Given the description of an element on the screen output the (x, y) to click on. 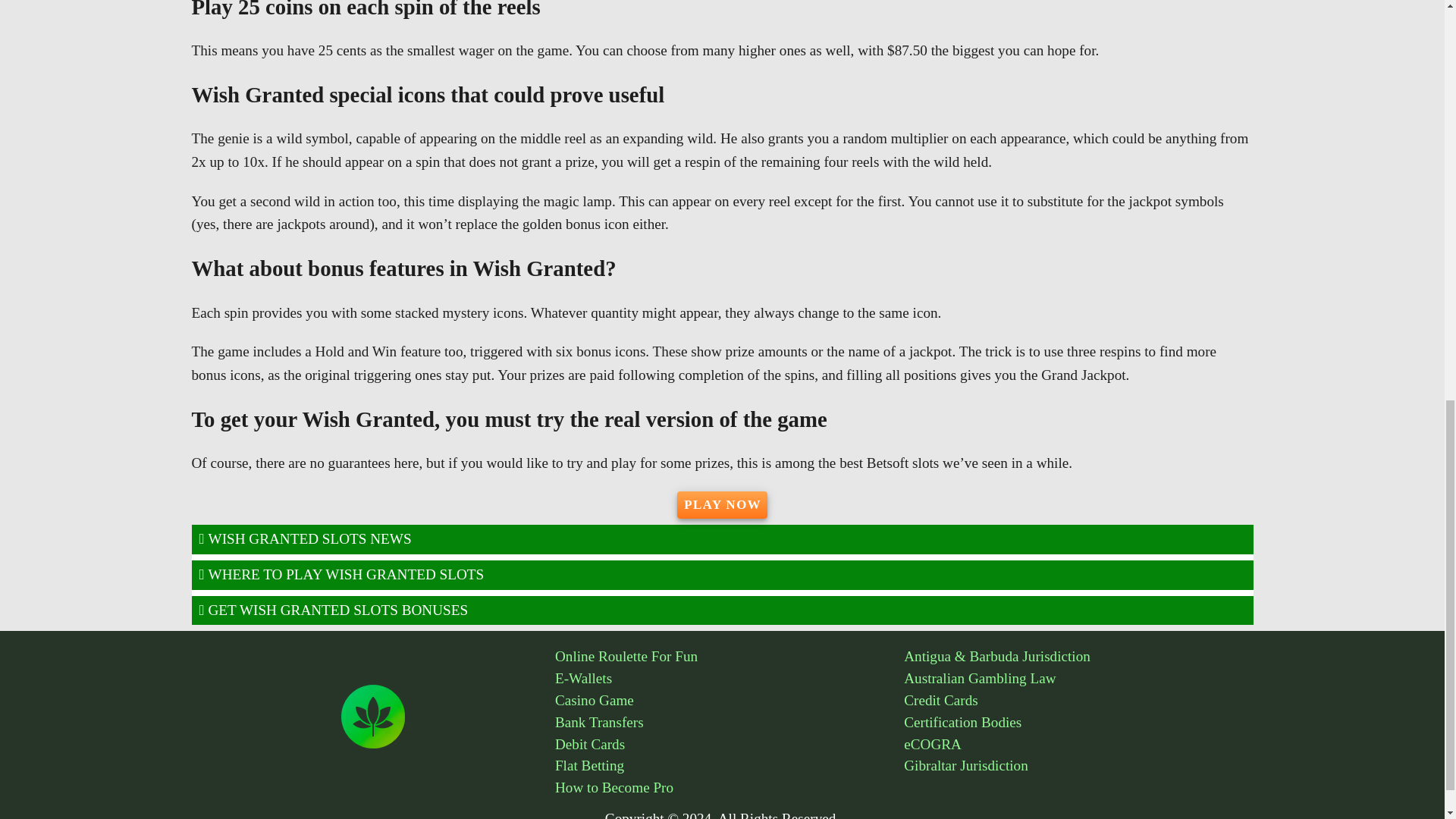
Australian Gambling Law (1078, 679)
Debit Cards (729, 744)
Gibraltar Jurisdiction (1078, 766)
Bank Transfers (729, 722)
Casino Game (729, 700)
Flat Betting (729, 766)
Certification Bodies (1078, 722)
How to Become Pro (729, 788)
eCOGRA (1078, 744)
PLAY NOW (722, 504)
Online Roulette For Fun (729, 657)
Credit Cards (1078, 700)
E-Wallets (729, 679)
